Given the description of an element on the screen output the (x, y) to click on. 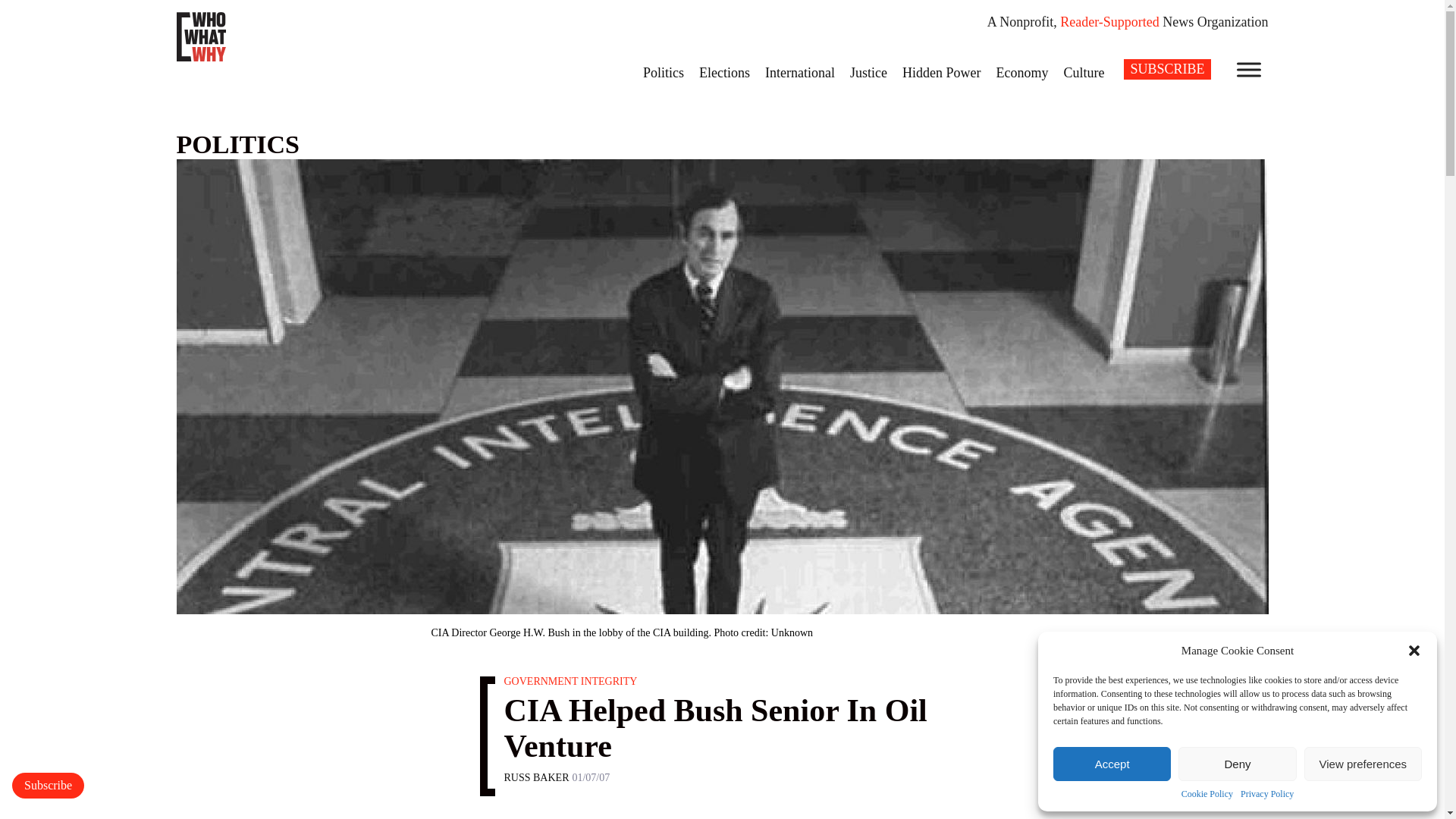
Subscribe (47, 785)
Justice (869, 72)
Reader-Supported (1108, 21)
Cookie Policy (1206, 794)
View preferences (1363, 763)
Accept (1111, 763)
Economy (1021, 72)
Politics (662, 72)
Search (21, 7)
Elections (724, 72)
International (800, 72)
Posts by Russ Baker (536, 777)
Deny (1236, 763)
Hidden Power (941, 72)
SUBSCRIBE (1166, 68)
